Given the description of an element on the screen output the (x, y) to click on. 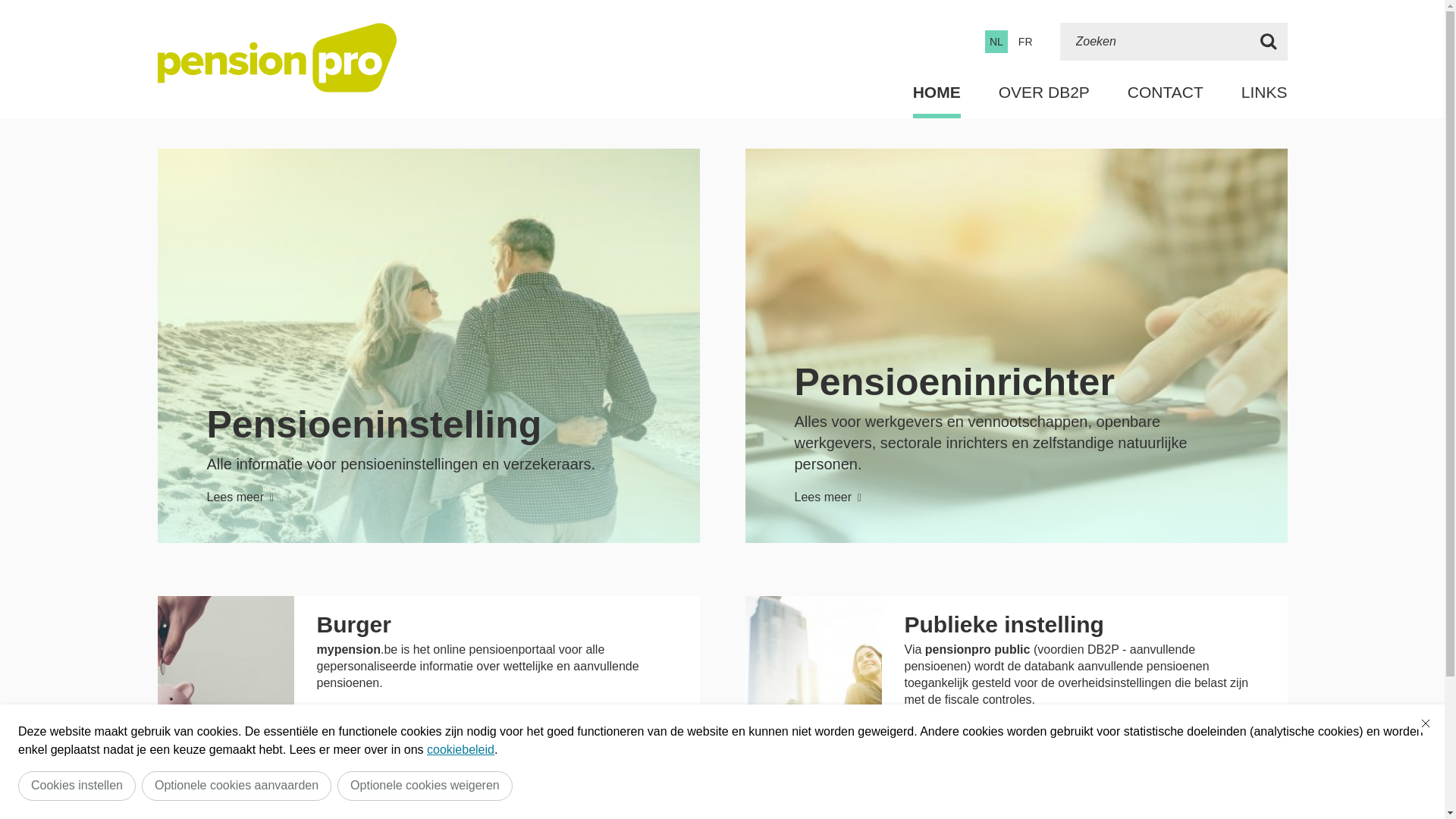
OVER DB2P Element type: text (1043, 92)
Publieke instelling Element type: text (1003, 624)
HOME Element type: text (936, 92)
LINKS Element type: text (1264, 92)
CONTACT Element type: text (1165, 92)
cookiebeleid Element type: text (460, 749)
Optionele cookies aanvaarden Element type: text (236, 785)
Cookies instellen Element type: text (76, 785)
Naar de toepassing Element type: text (974, 736)
Overslaan en naar de inhoud gaan Element type: text (7, 4)
Apply Element type: text (1268, 41)
Zoeken Element type: hover (1154, 41)
Naar de toepassing Element type: text (387, 719)
Sluiten Element type: hover (1425, 723)
Optionele cookies weigeren Element type: text (424, 785)
FR Element type: text (1025, 41)
Burger Element type: text (353, 624)
Back to Pension Pro home page Element type: hover (276, 57)
NL Element type: text (996, 41)
